Given the description of an element on the screen output the (x, y) to click on. 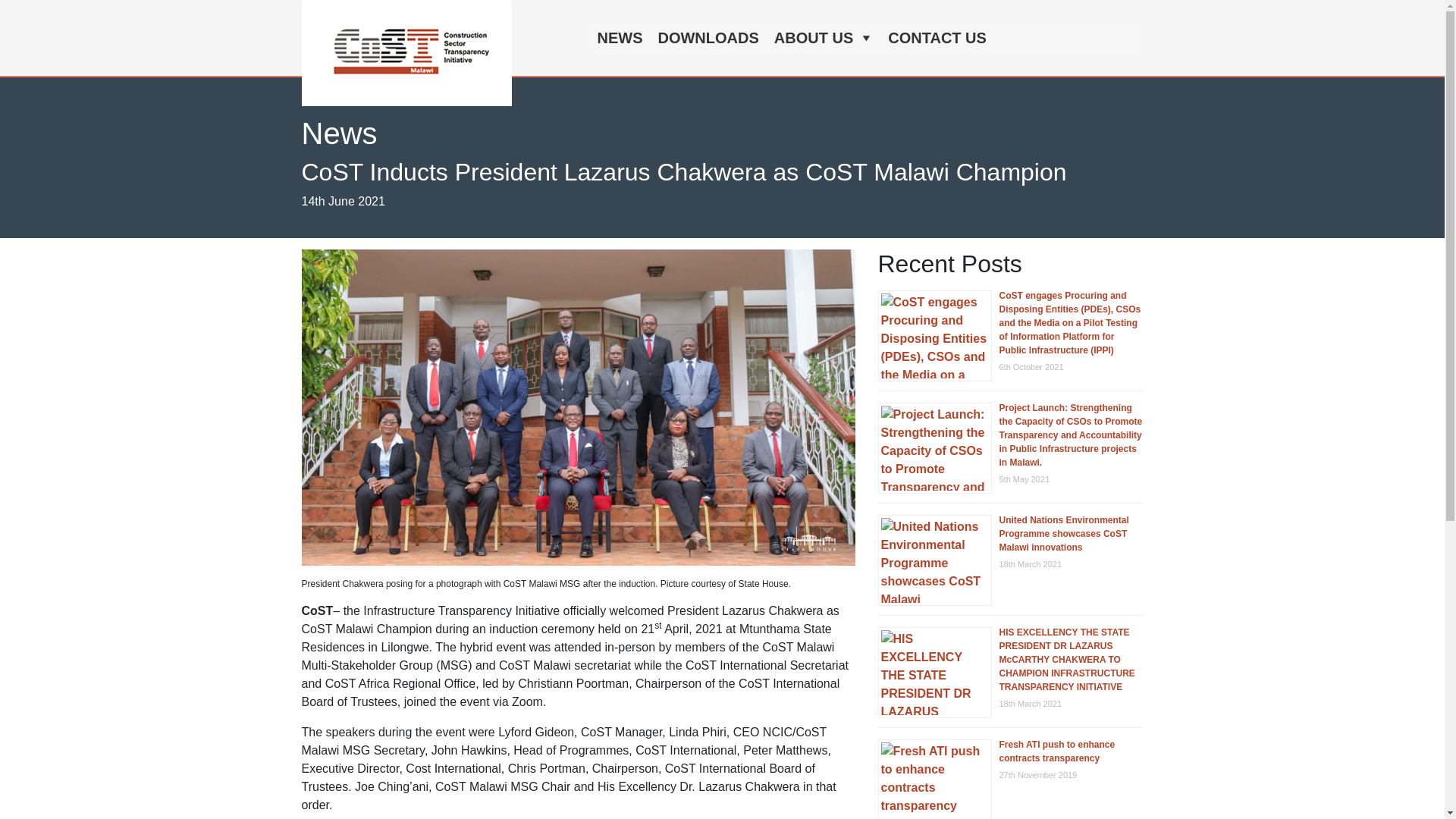
NEWS (619, 37)
CONTACT US (937, 37)
Fresh ATI push to enhance contracts transparency (1056, 751)
DOWNLOADS (707, 37)
ABOUT US (823, 37)
